Given the description of an element on the screen output the (x, y) to click on. 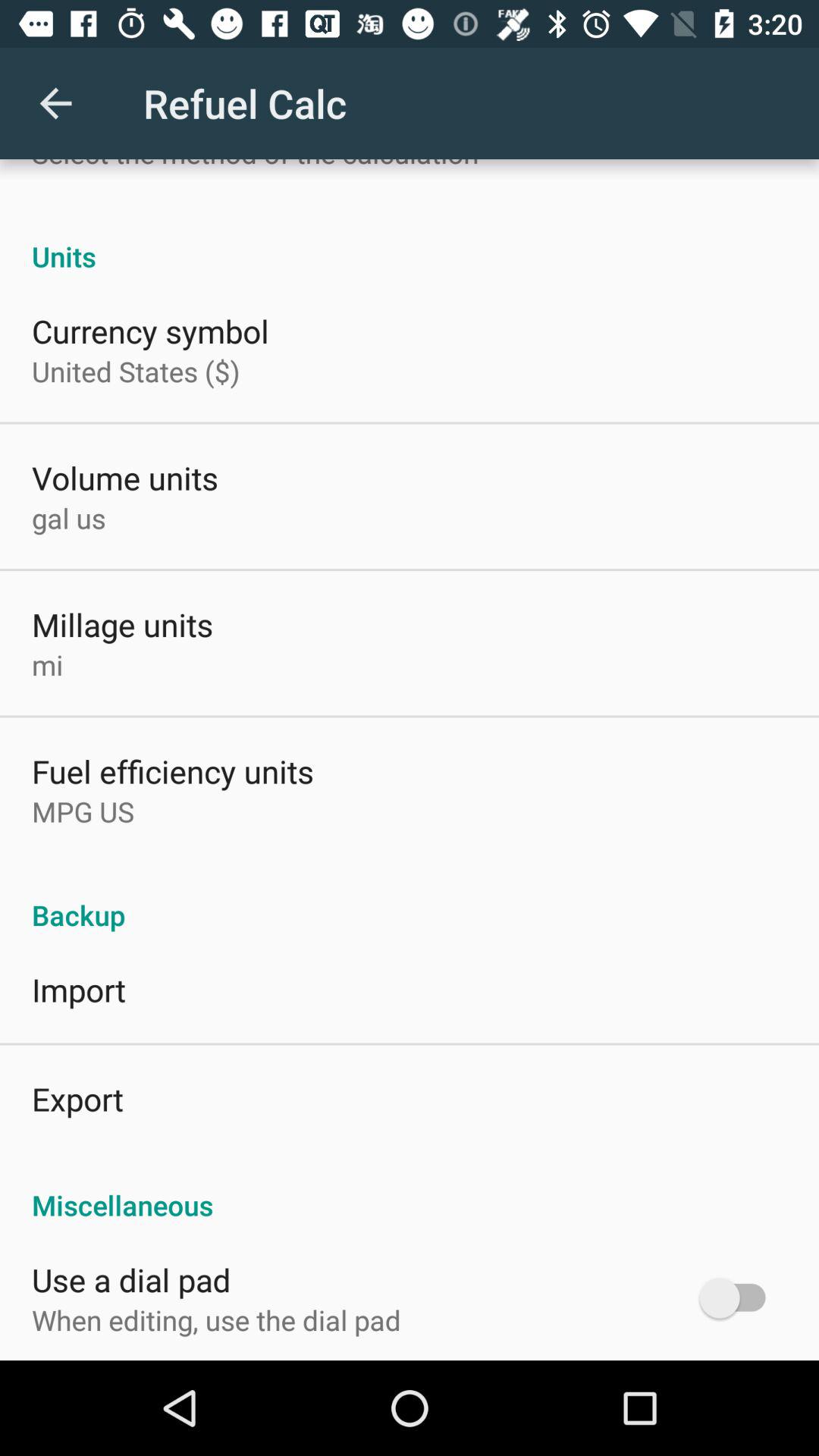
tap app above the select the method (55, 103)
